Given the description of an element on the screen output the (x, y) to click on. 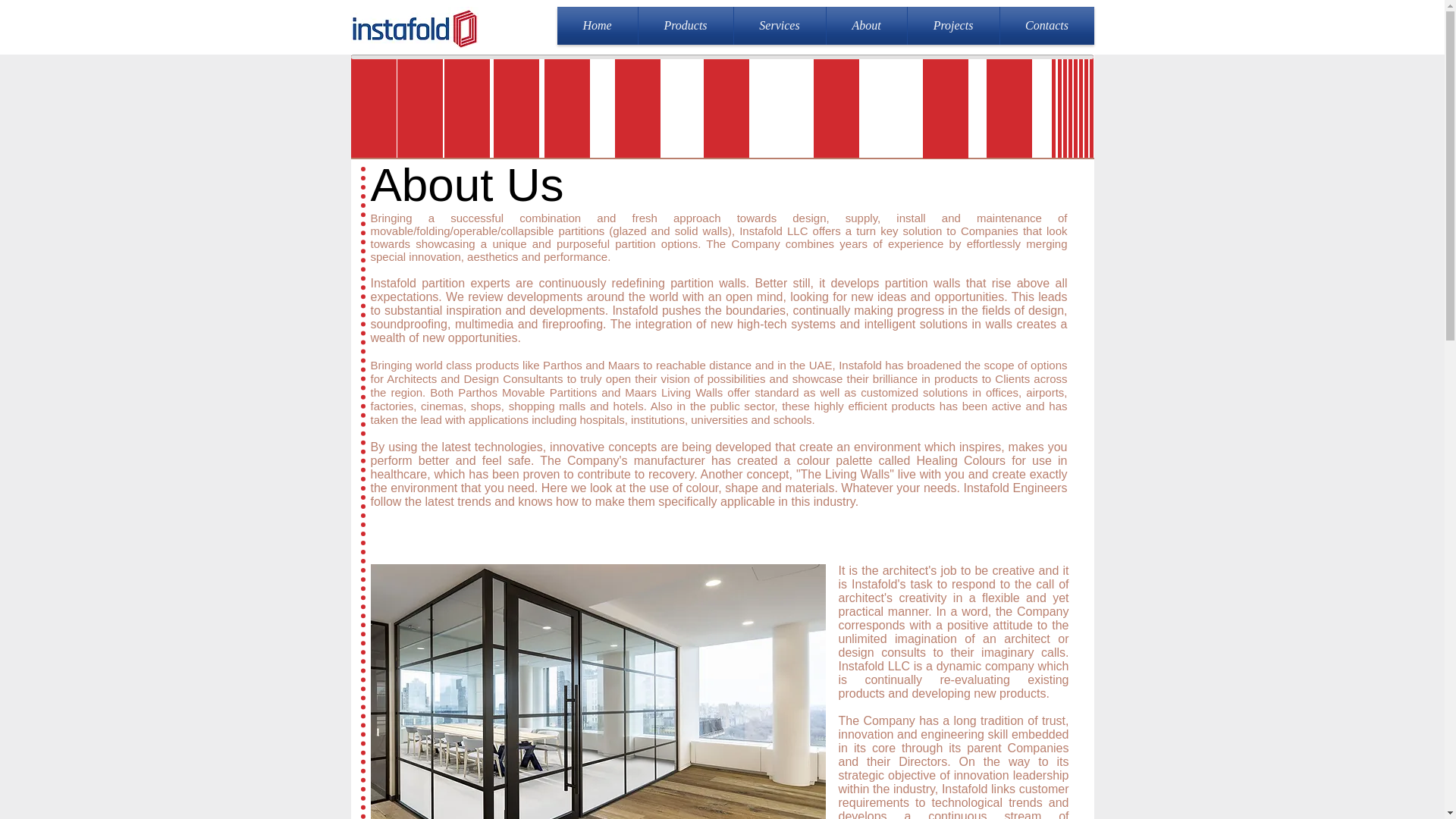
Projects (952, 25)
Home (596, 25)
Products (686, 25)
About (867, 25)
Services (779, 25)
Contacts (1045, 25)
